Given the description of an element on the screen output the (x, y) to click on. 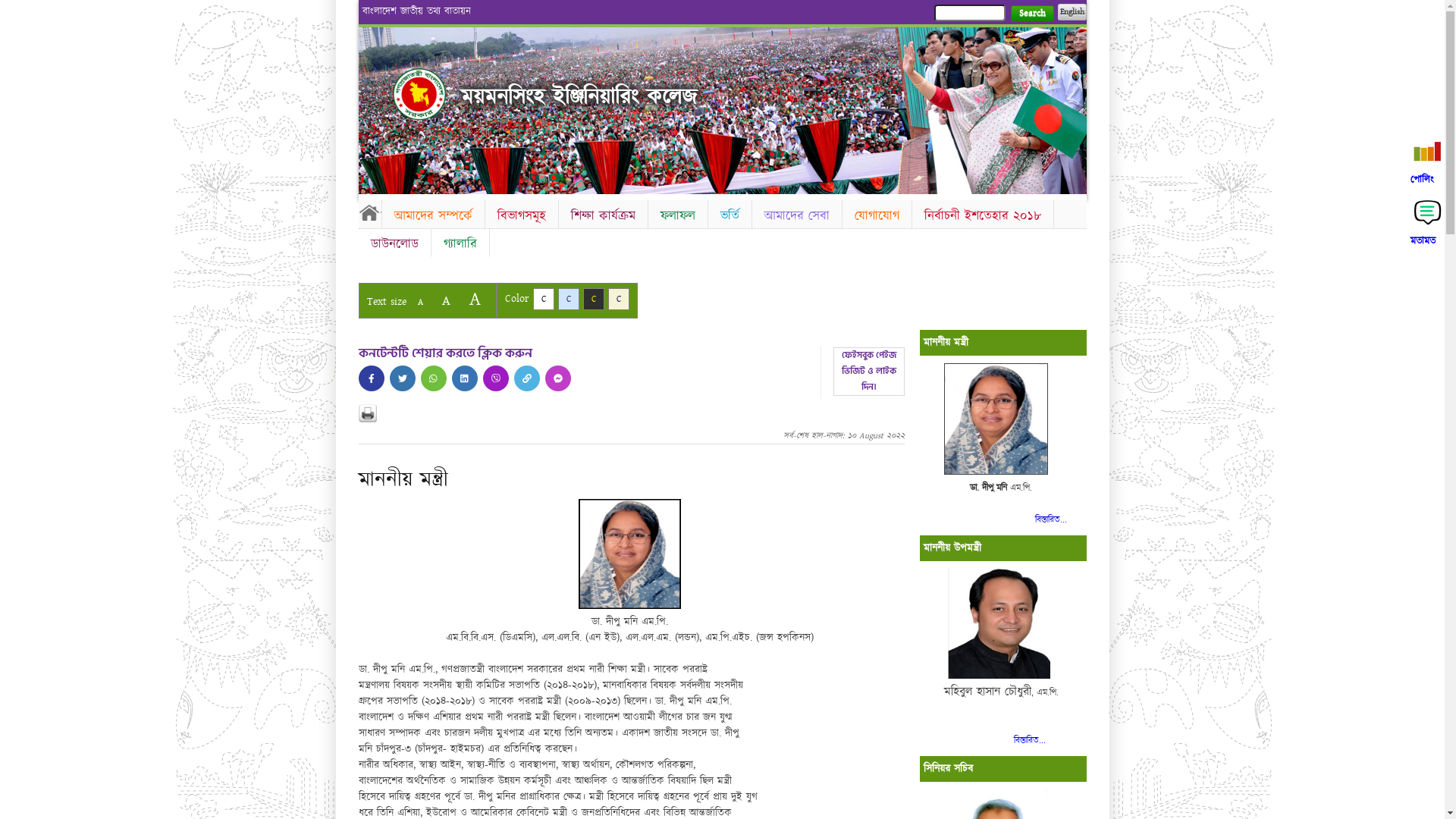
A Element type: text (445, 300)
Search Element type: text (1031, 13)
English Element type: text (1071, 11)
C Element type: text (542, 299)
A Element type: text (419, 301)
C Element type: text (568, 299)
C Element type: text (618, 299)
C Element type: text (592, 299)
Home Element type: hover (368, 211)
Home Element type: hover (418, 93)
A Element type: text (474, 298)
